Given the description of an element on the screen output the (x, y) to click on. 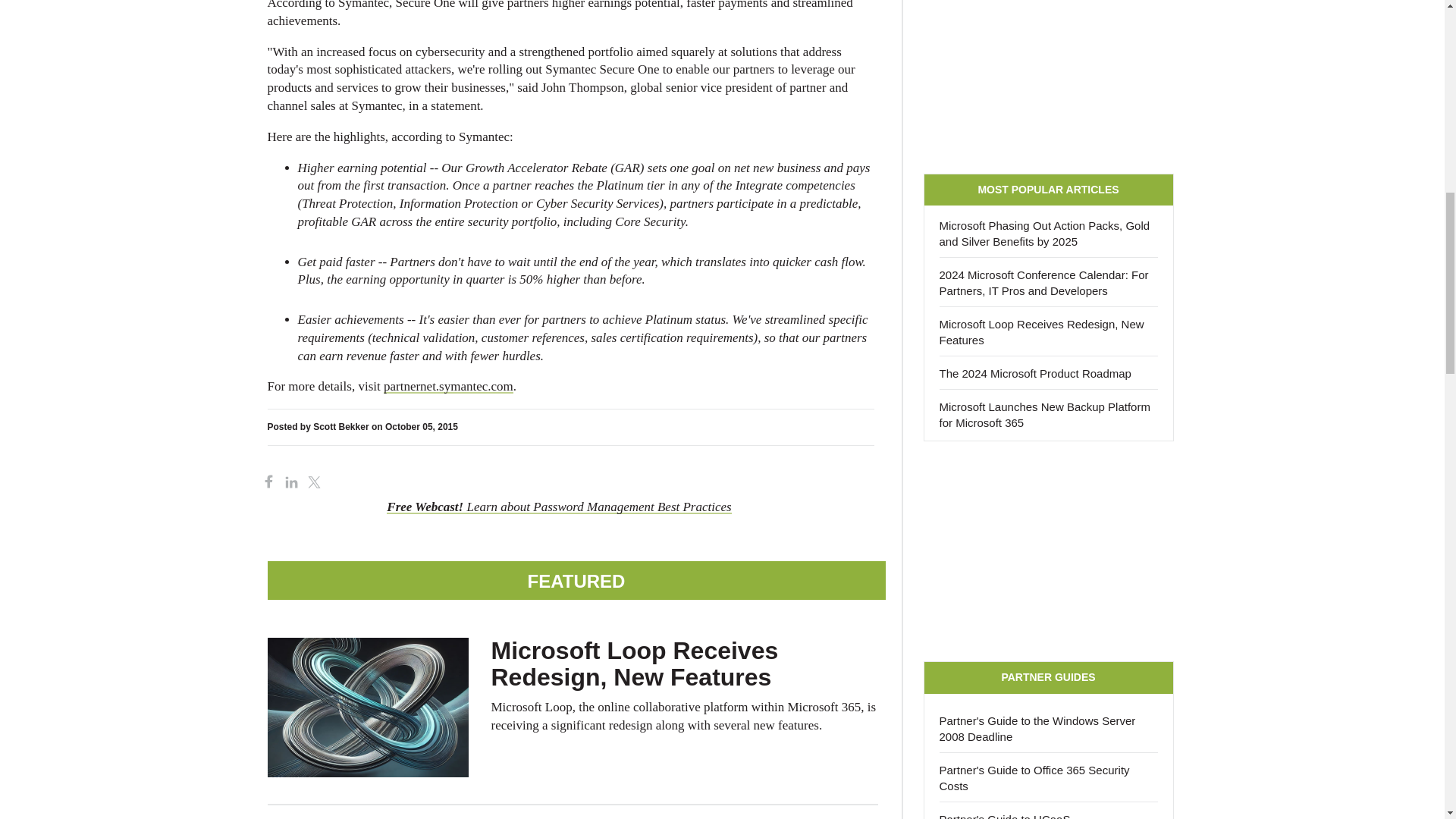
3rd party ad content (1047, 551)
partnernet.symantec.com (448, 386)
3rd party ad content (1047, 79)
